Given the description of an element on the screen output the (x, y) to click on. 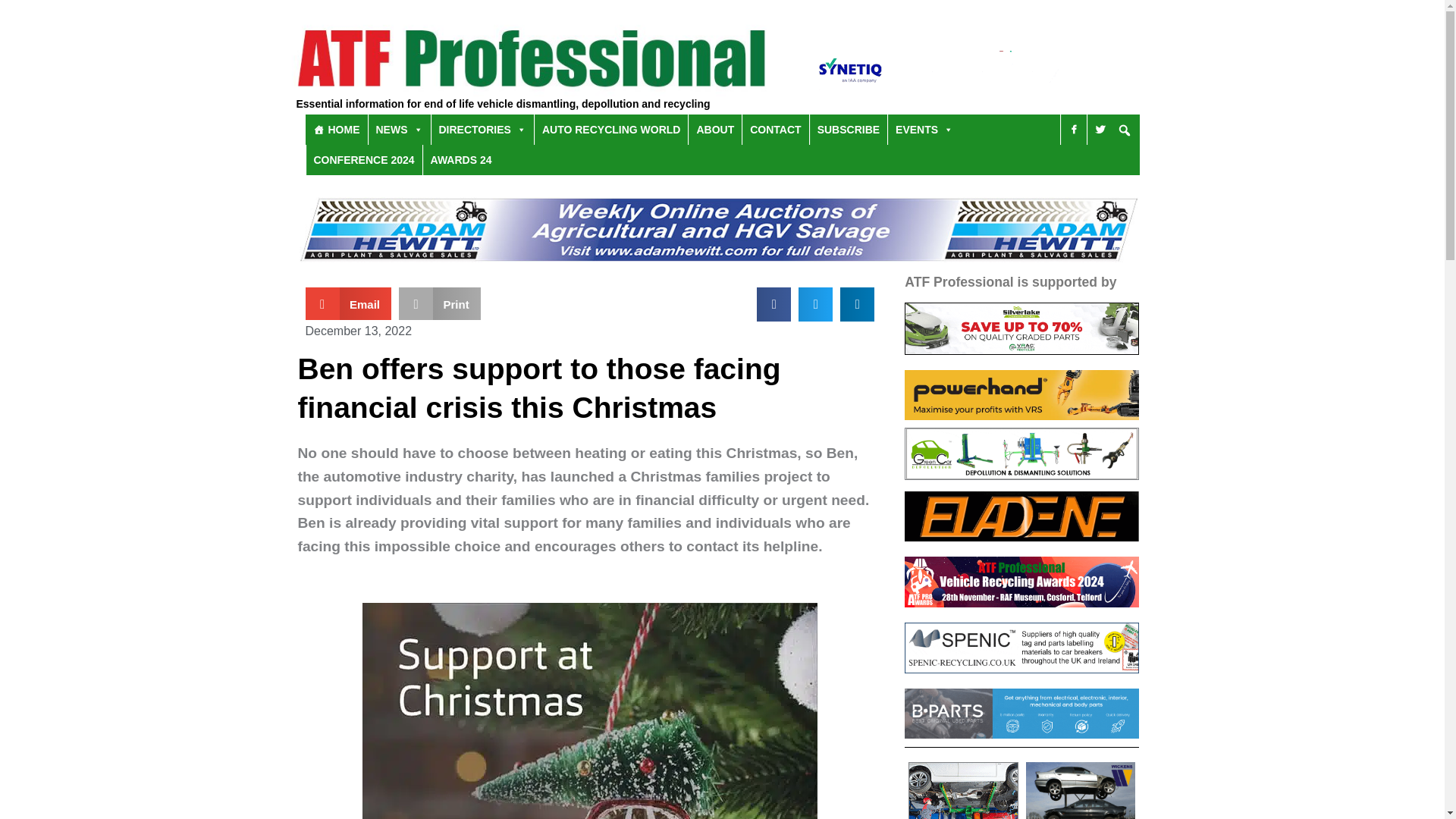
DIRECTORIES (481, 129)
Search (864, 188)
HOME (335, 129)
Search (689, 350)
NEWS (399, 129)
